Given the description of an element on the screen output the (x, y) to click on. 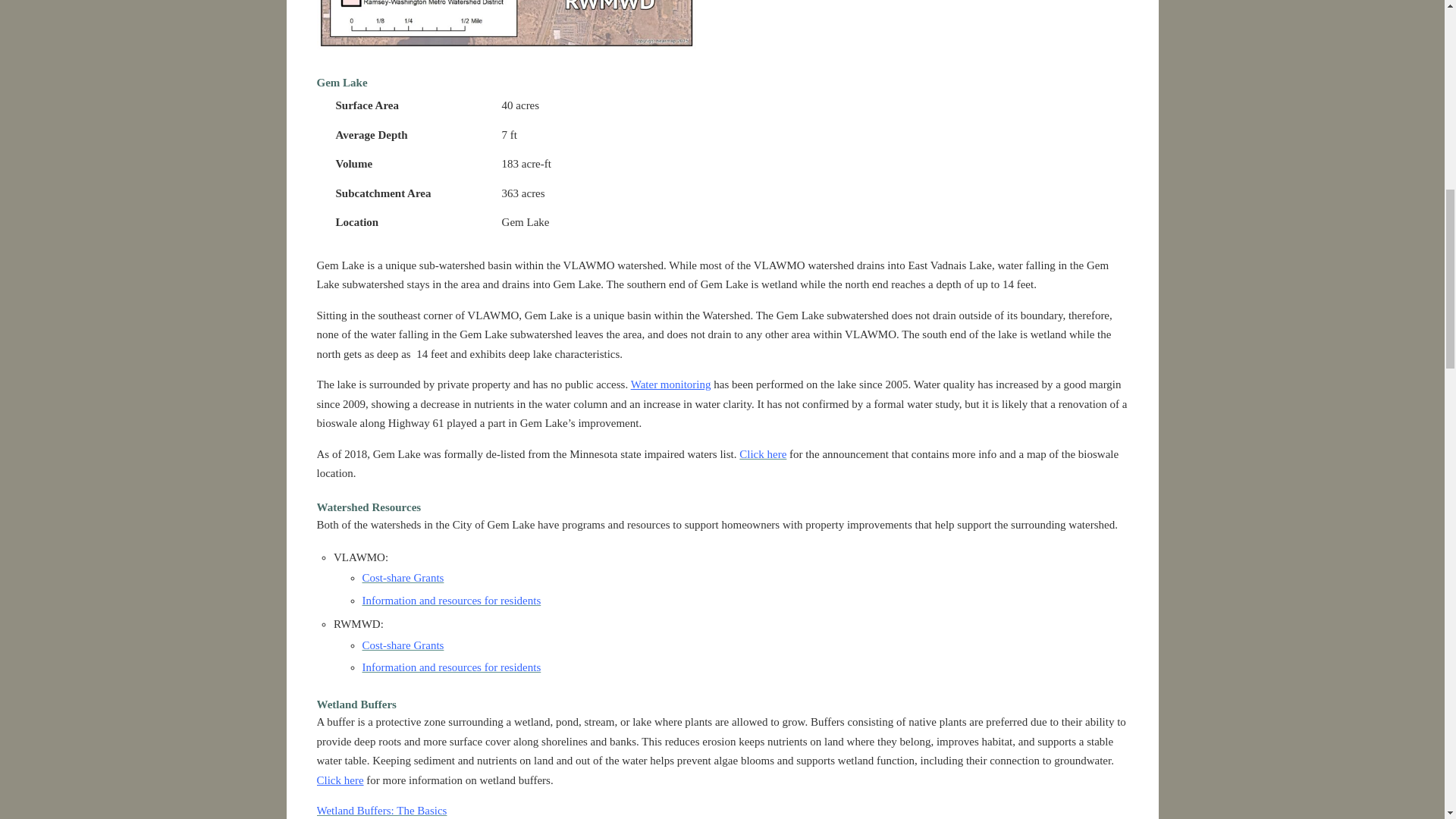
Information and resources for residents (451, 600)
Cost-share Grants (403, 644)
Water monitoring (670, 384)
Click here (762, 453)
Information and resources for residents (451, 666)
Cost-share Grants (403, 577)
Wetland Buffers: The Basics (381, 810)
Click here (340, 779)
